Given the description of an element on the screen output the (x, y) to click on. 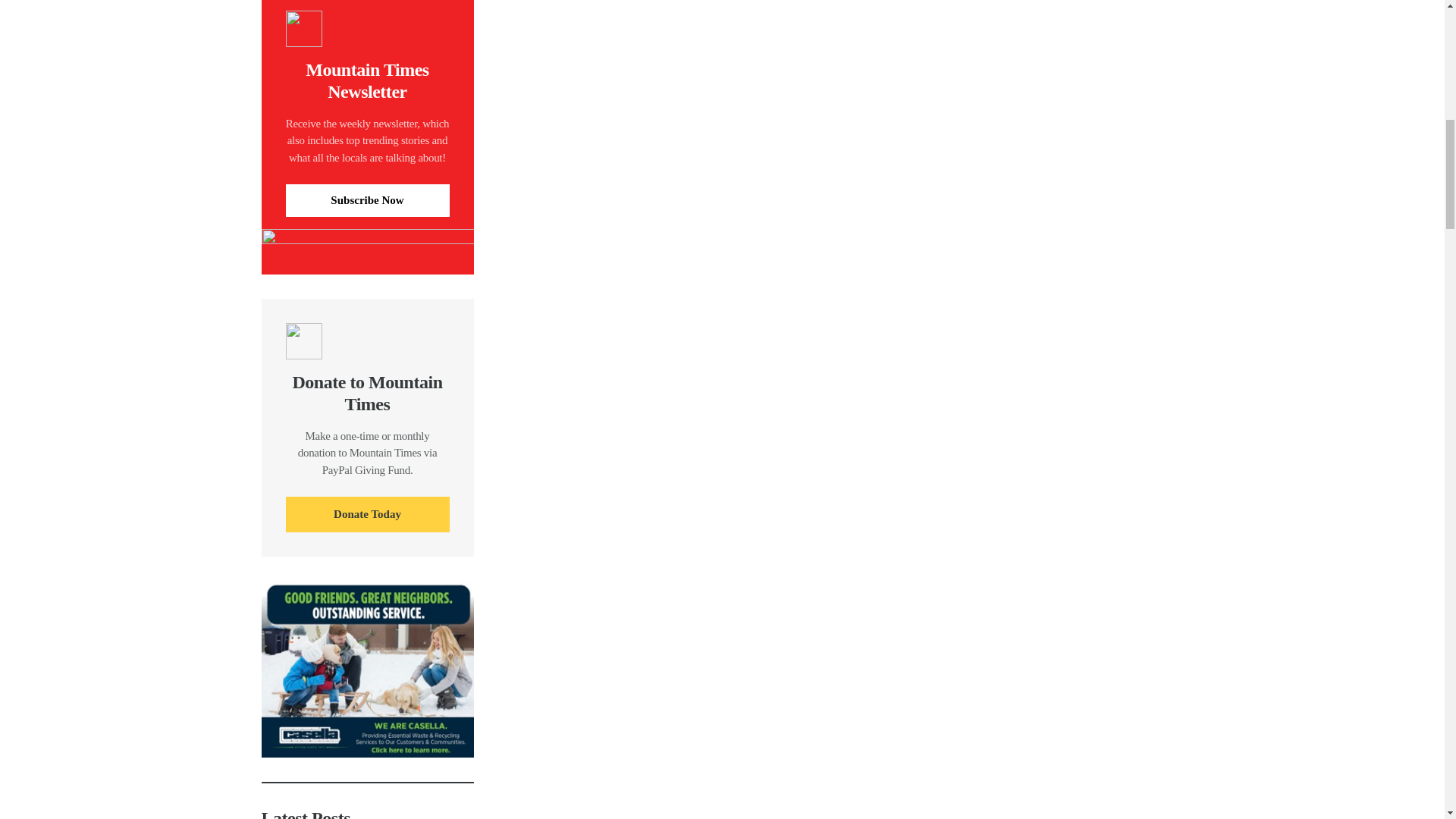
Subscribe Now (366, 200)
Donate Today (366, 514)
